Given the description of an element on the screen output the (x, y) to click on. 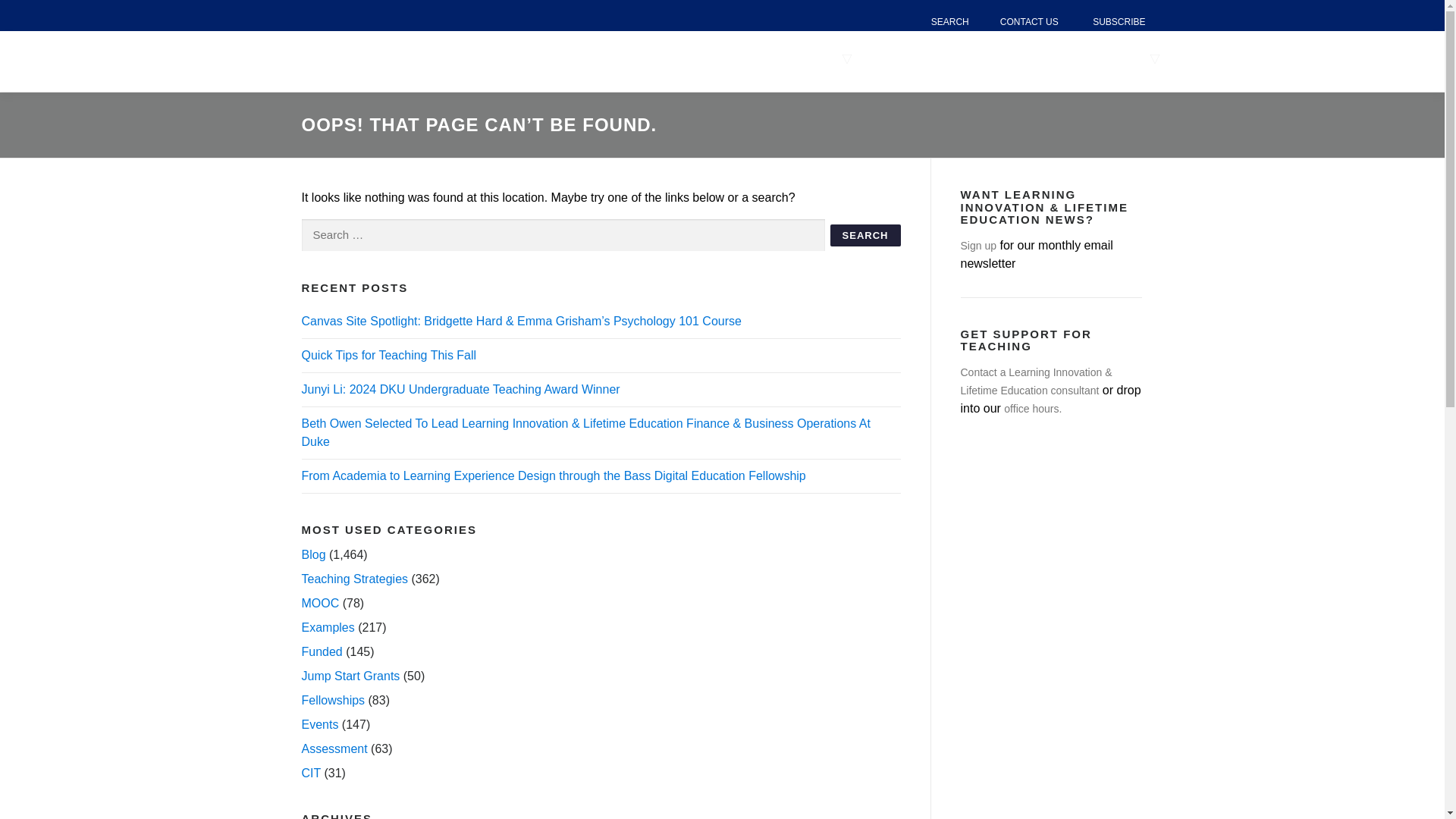
Teaching Strategies (355, 578)
Search (865, 235)
EVENTS (941, 59)
Events (320, 724)
Blog (313, 554)
Quick Tips for Teaching This Fall (389, 354)
Search (865, 235)
SEARCH (949, 21)
Junyi Li: 2024 DKU Undergraduate Teaching Award Winner (460, 389)
Funded (321, 651)
